Given the description of an element on the screen output the (x, y) to click on. 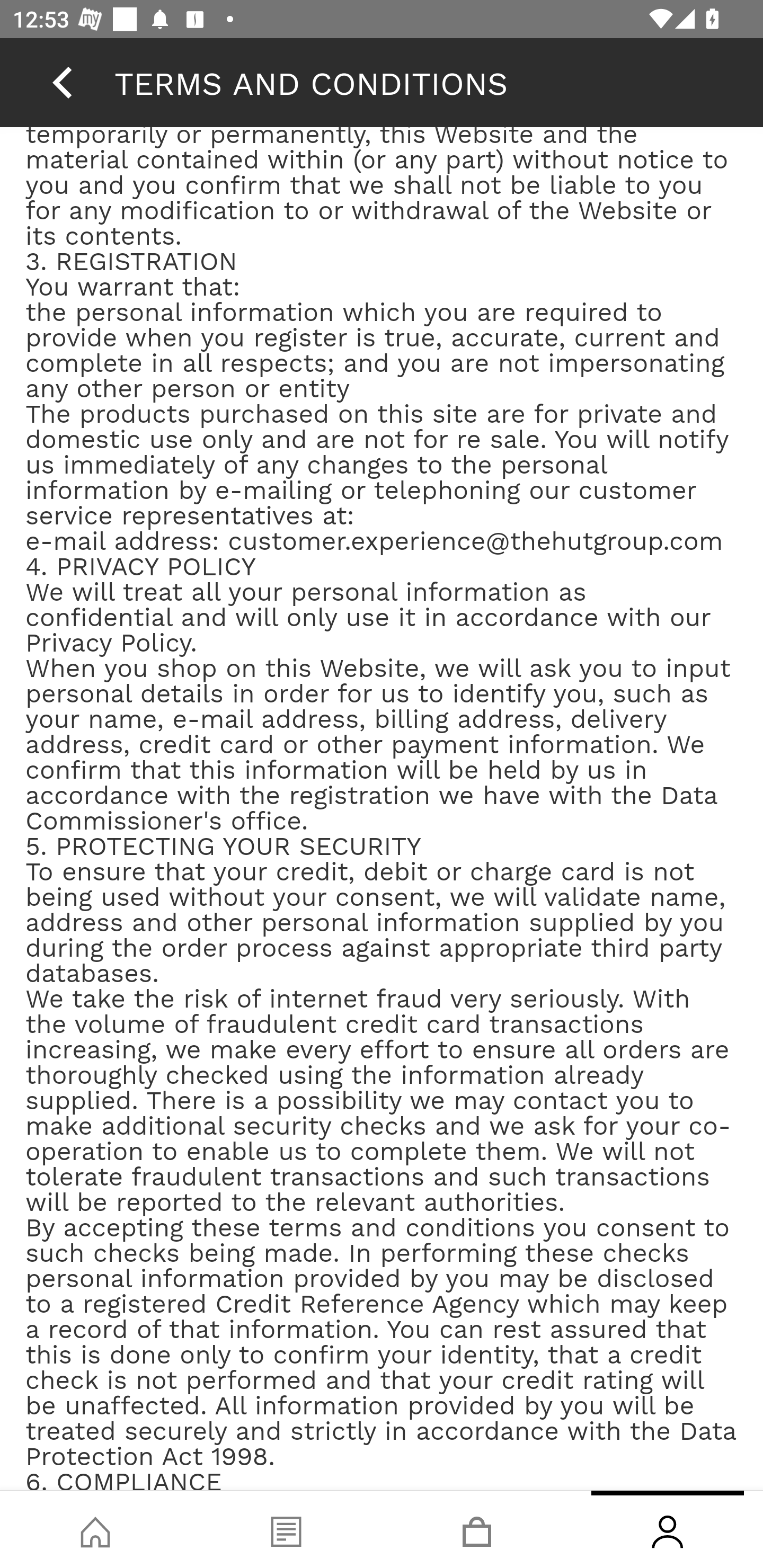
back (61, 82)
Shop, tab, 1 of 4 (95, 1529)
Blog, tab, 2 of 4 (285, 1529)
Basket, tab, 3 of 4 (476, 1529)
Account, tab, 4 of 4 (667, 1529)
